Given the description of an element on the screen output the (x, y) to click on. 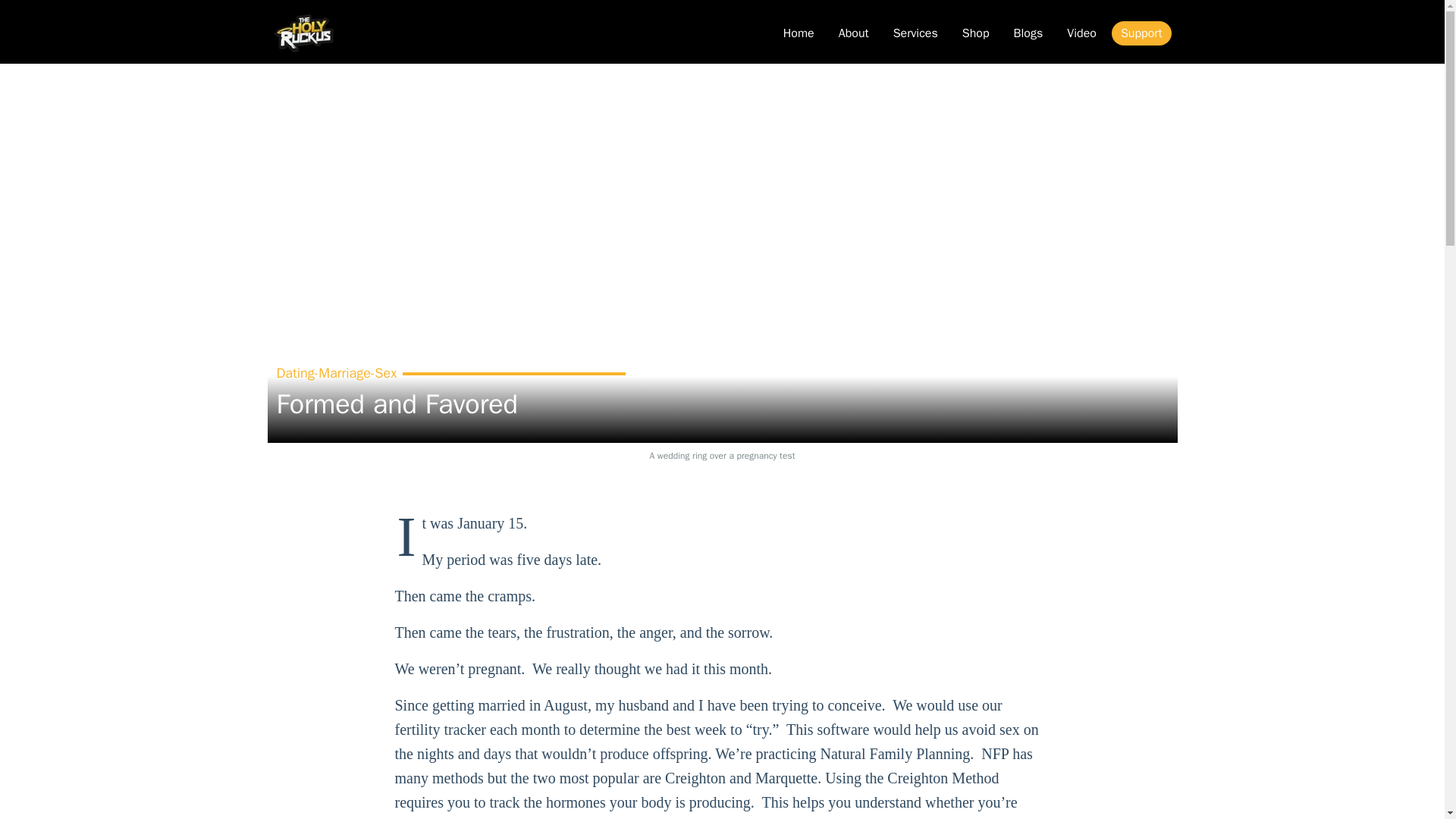
Dating-Marriage-Sex (336, 373)
Home (799, 33)
Shop (975, 33)
About (853, 33)
Video (1081, 33)
Services (915, 33)
Blogs (1028, 33)
Support (1142, 33)
